Given the description of an element on the screen output the (x, y) to click on. 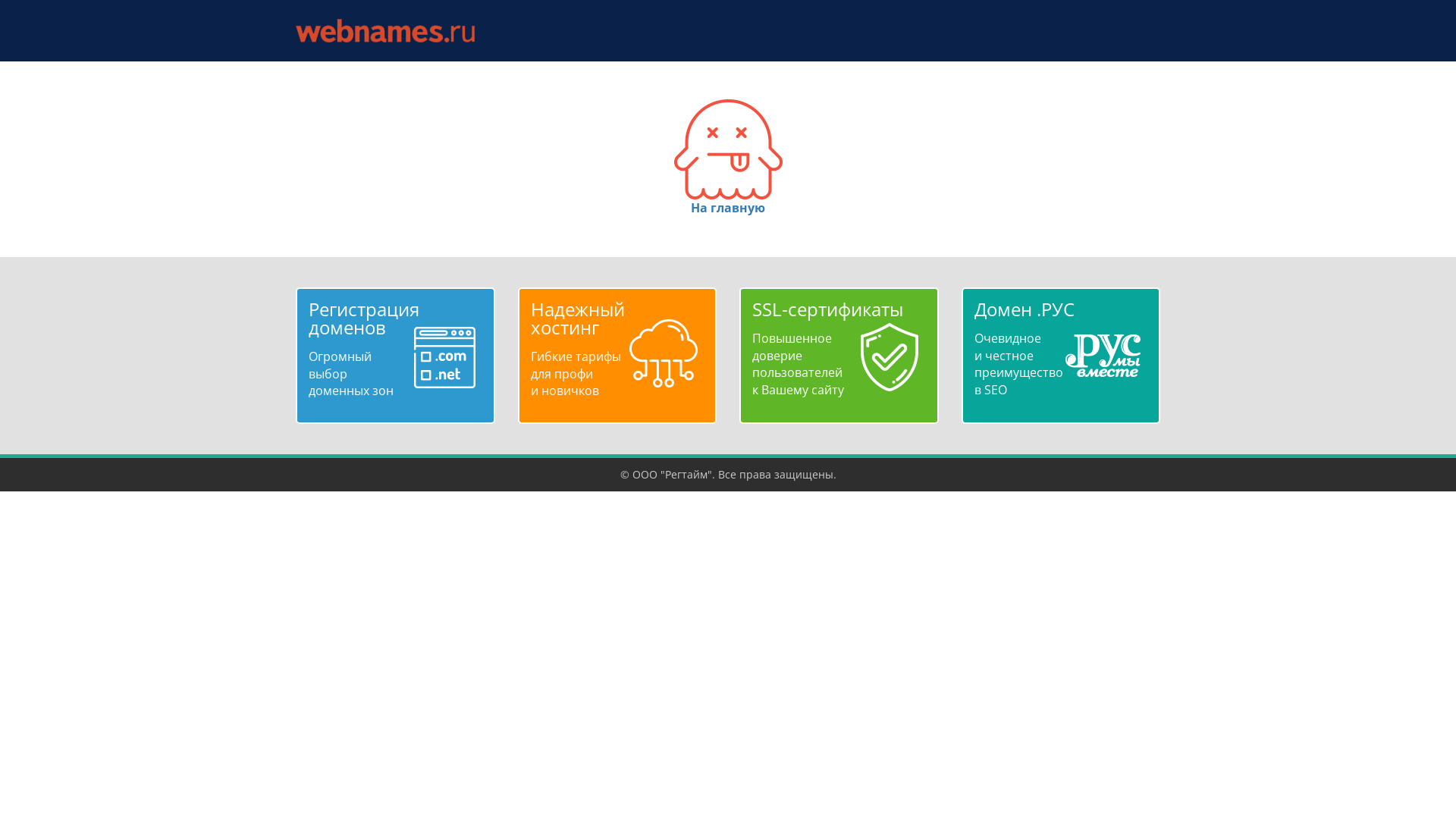
webnames.ru Element type: text (384, 30)
